Given the description of an element on the screen output the (x, y) to click on. 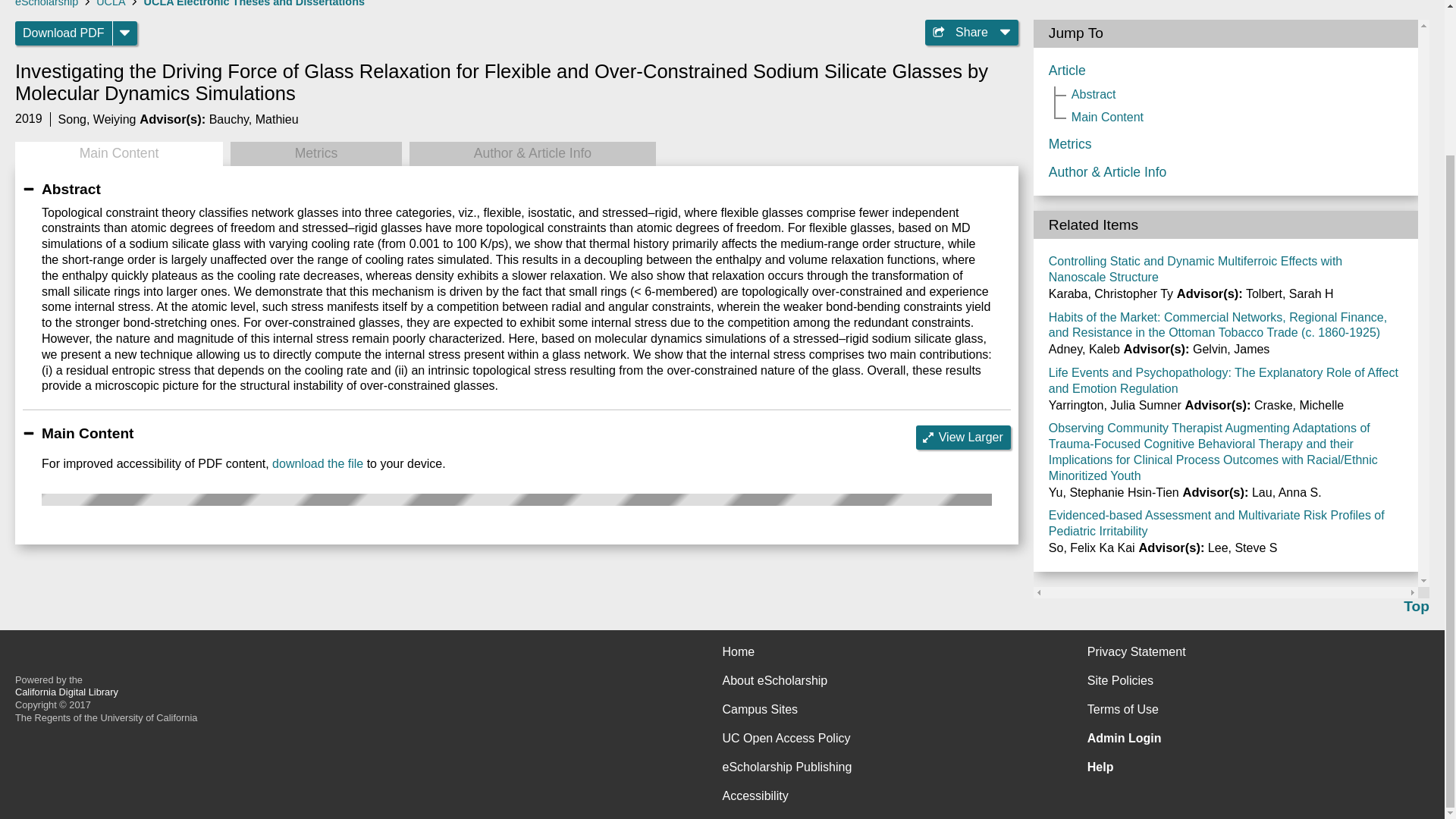
View Larger (962, 437)
eScholarship (46, 3)
download the file (317, 463)
Bauchy, Mathieu (253, 119)
UCLA Electronic Theses and Dissertations (254, 3)
Song, Weiying (97, 119)
Metrics (315, 153)
Main Content (118, 153)
Download PDF (63, 33)
UCLA (110, 3)
